Given the description of an element on the screen output the (x, y) to click on. 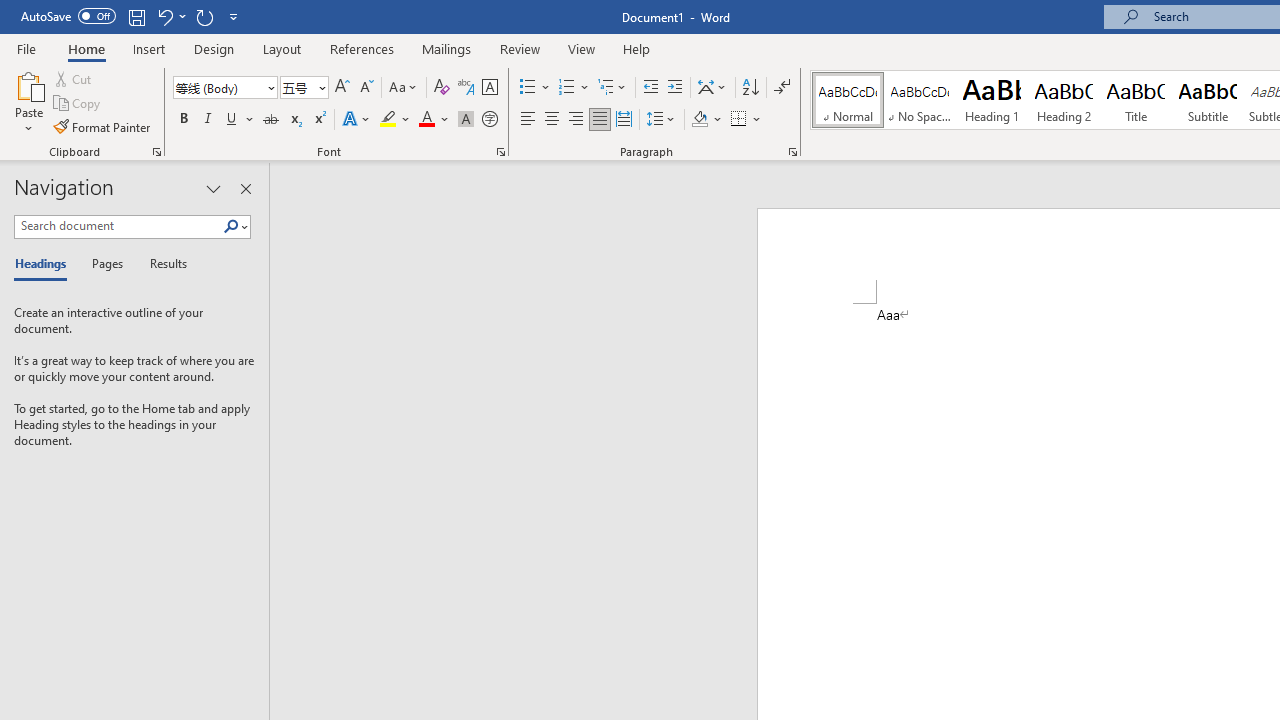
Customize Quick Access Toolbar (234, 15)
Undo AutoCorrect (170, 15)
Close pane (246, 188)
Design (214, 48)
Italic (207, 119)
Font (224, 87)
Search (235, 227)
Review (520, 48)
Open (320, 87)
Cut (73, 78)
Text Highlight Color (395, 119)
References (362, 48)
Bullets (527, 87)
Multilevel List (613, 87)
Headings (45, 264)
